Given the description of an element on the screen output the (x, y) to click on. 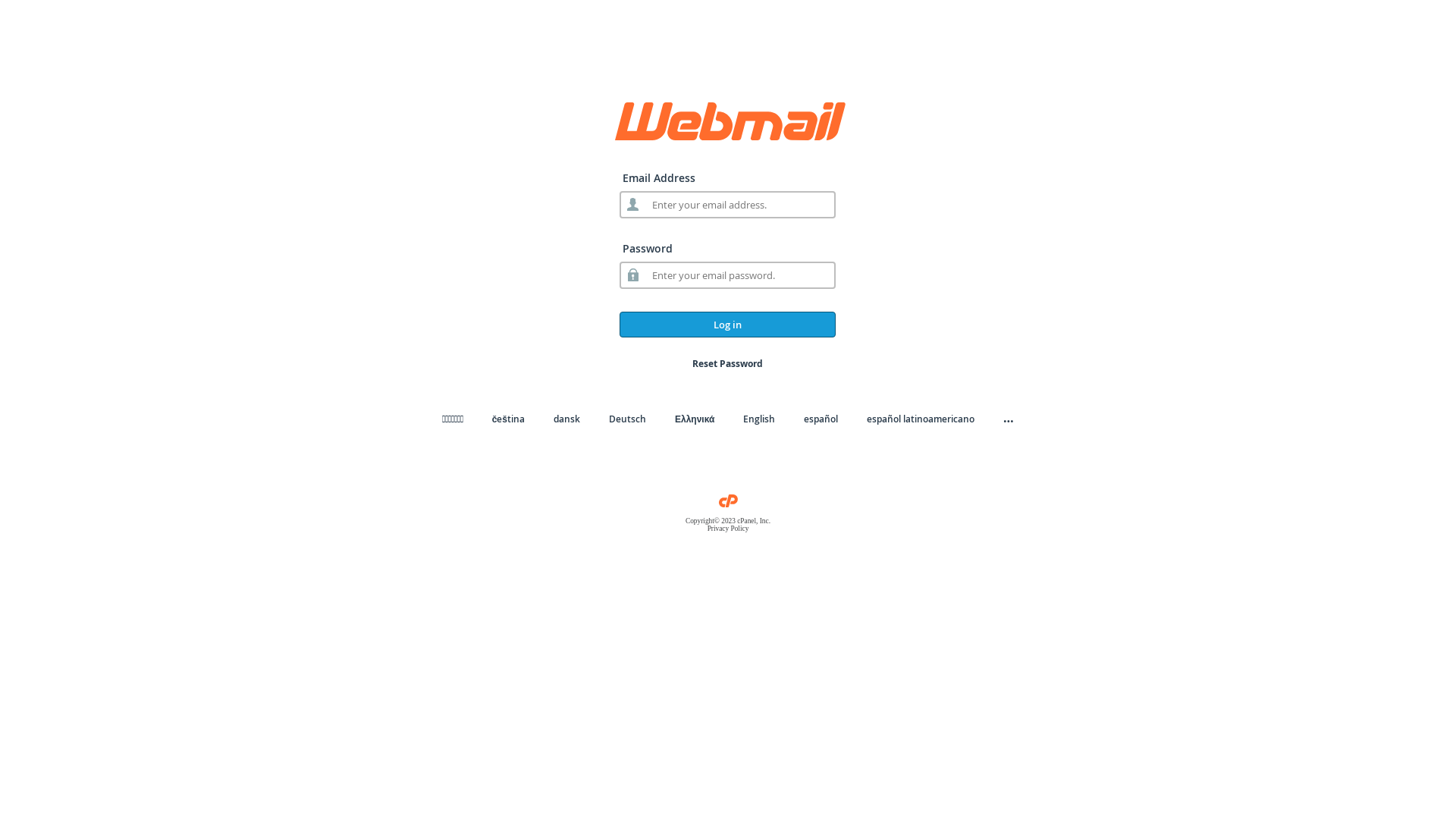
English Element type: text (759, 418)
Deutsch Element type: text (627, 418)
dansk Element type: text (566, 418)
Privacy Policy Element type: text (728, 528)
Log in Element type: text (727, 324)
Reset Password Element type: text (727, 363)
